Given the description of an element on the screen output the (x, y) to click on. 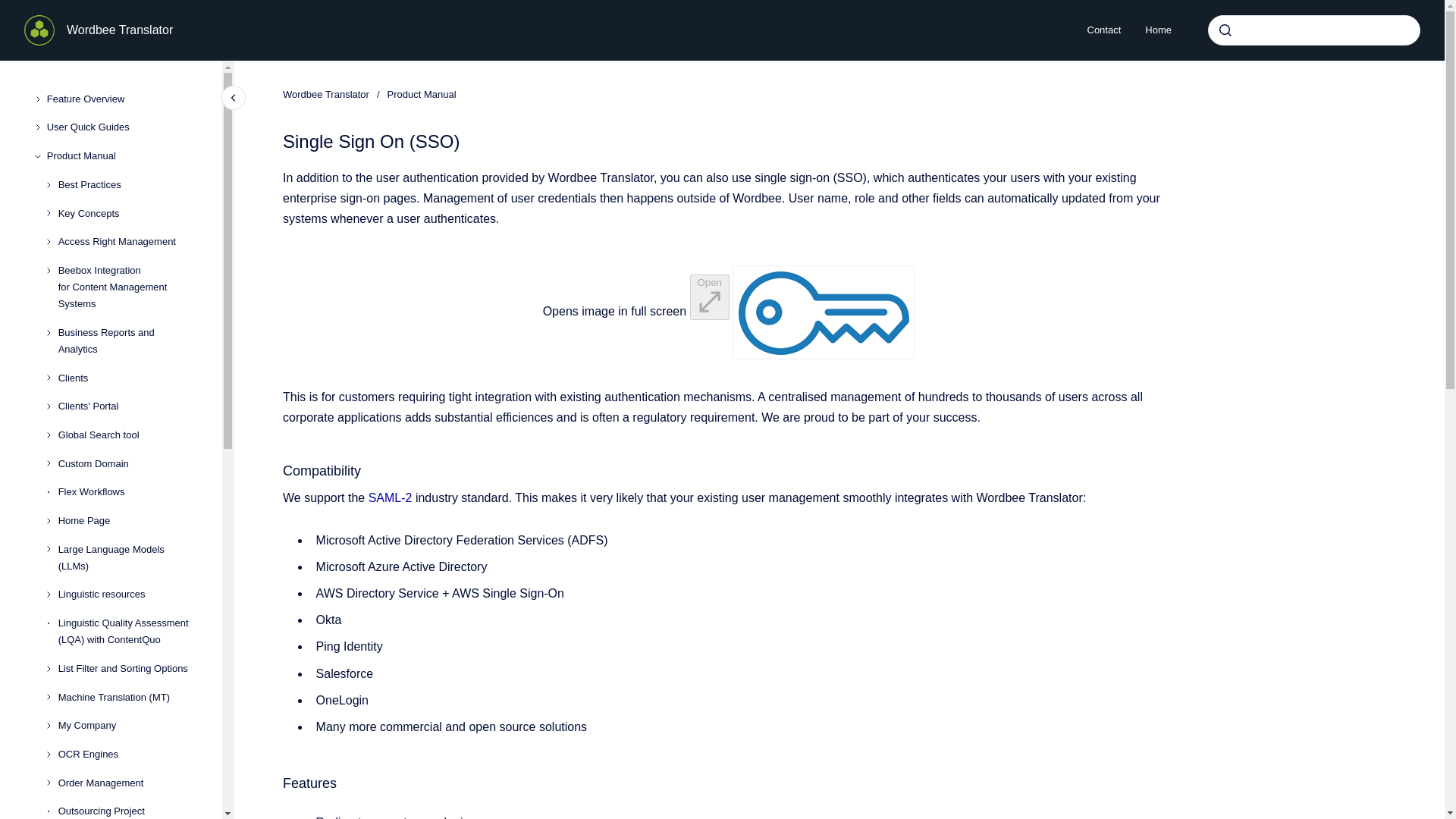
Contact (1104, 29)
Go to homepage (39, 30)
Custom Domain (128, 463)
Beebox Integration for Content Management Systems (128, 287)
Clients' Portal (128, 406)
Flex Workflows (128, 492)
Clients (128, 378)
Wordbee Translator (119, 29)
User Quick Guides (122, 127)
Access Right Management (128, 241)
Global Search tool (128, 434)
Linguistic resources (128, 595)
Business Reports and Analytics (128, 341)
Feature Overview (122, 99)
Home (1157, 29)
